Given the description of an element on the screen output the (x, y) to click on. 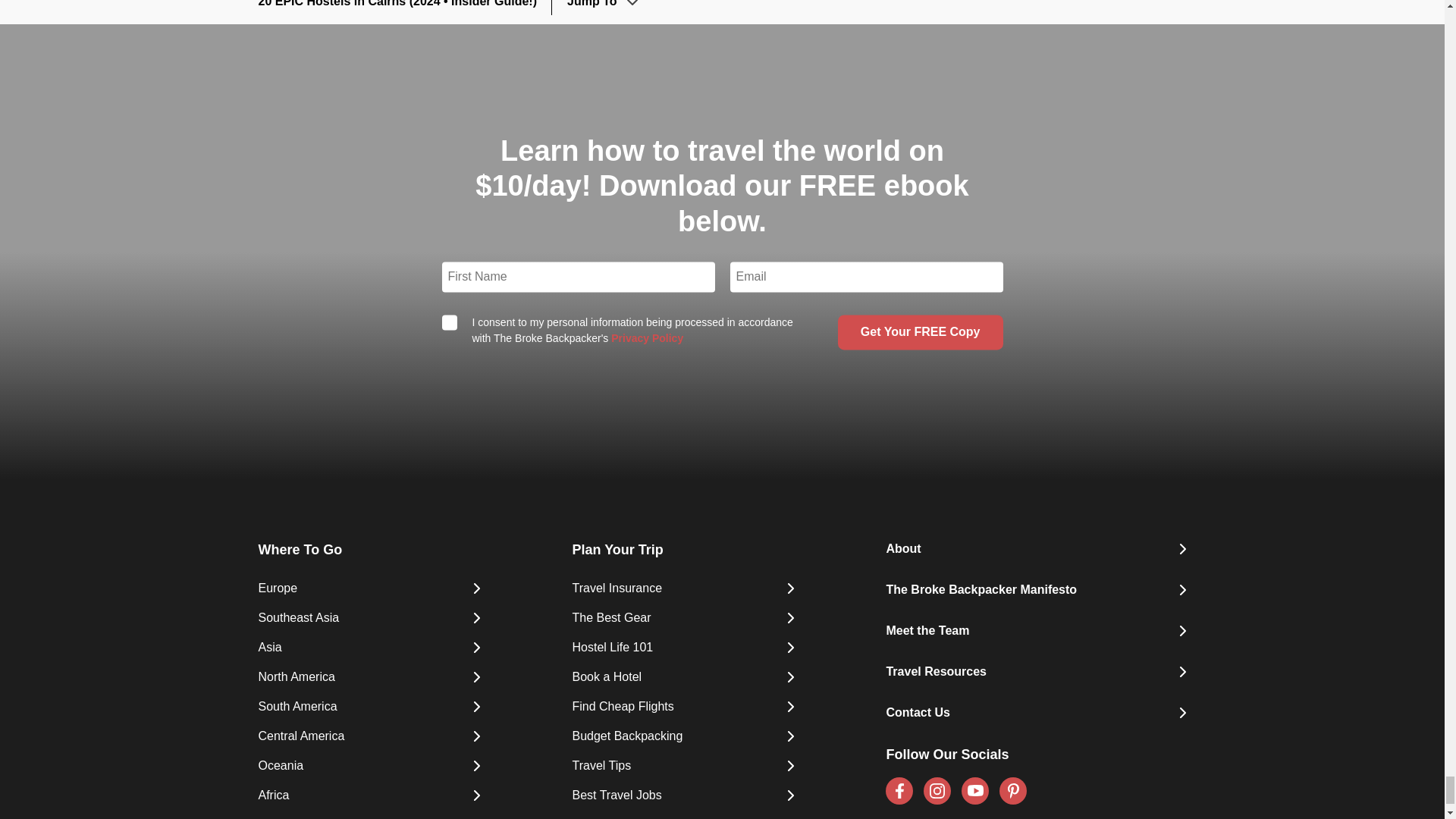
1 (449, 322)
